Given the description of an element on the screen output the (x, y) to click on. 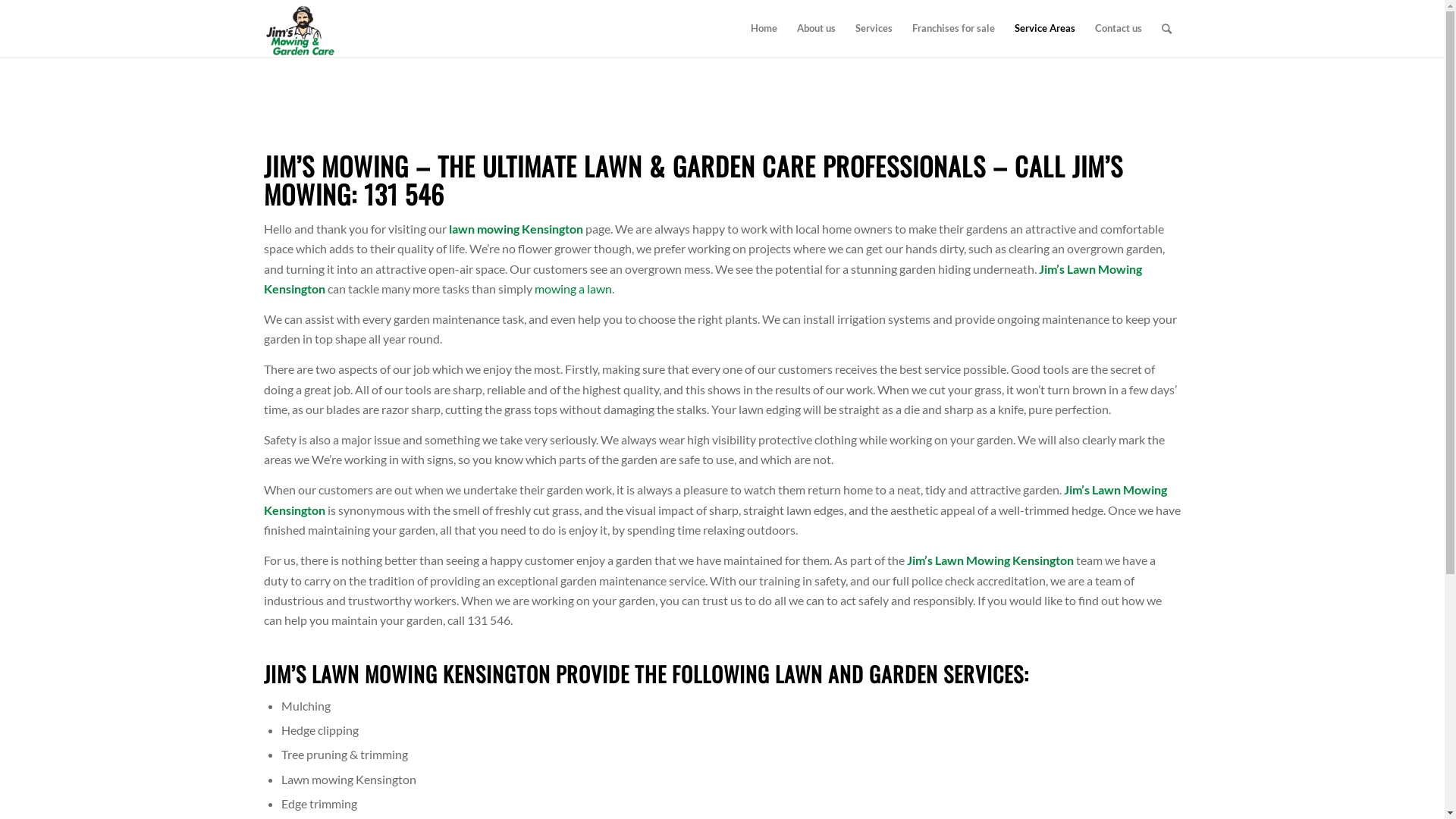
About us Element type: text (816, 28)
Contact us Element type: text (1117, 28)
131 546 Element type: text (404, 193)
Franchises for sale Element type: text (953, 28)
Service Areas Element type: text (1044, 28)
mowing a lawn Element type: text (572, 288)
Home Element type: text (763, 28)
Services Element type: text (872, 28)
